Given the description of an element on the screen output the (x, y) to click on. 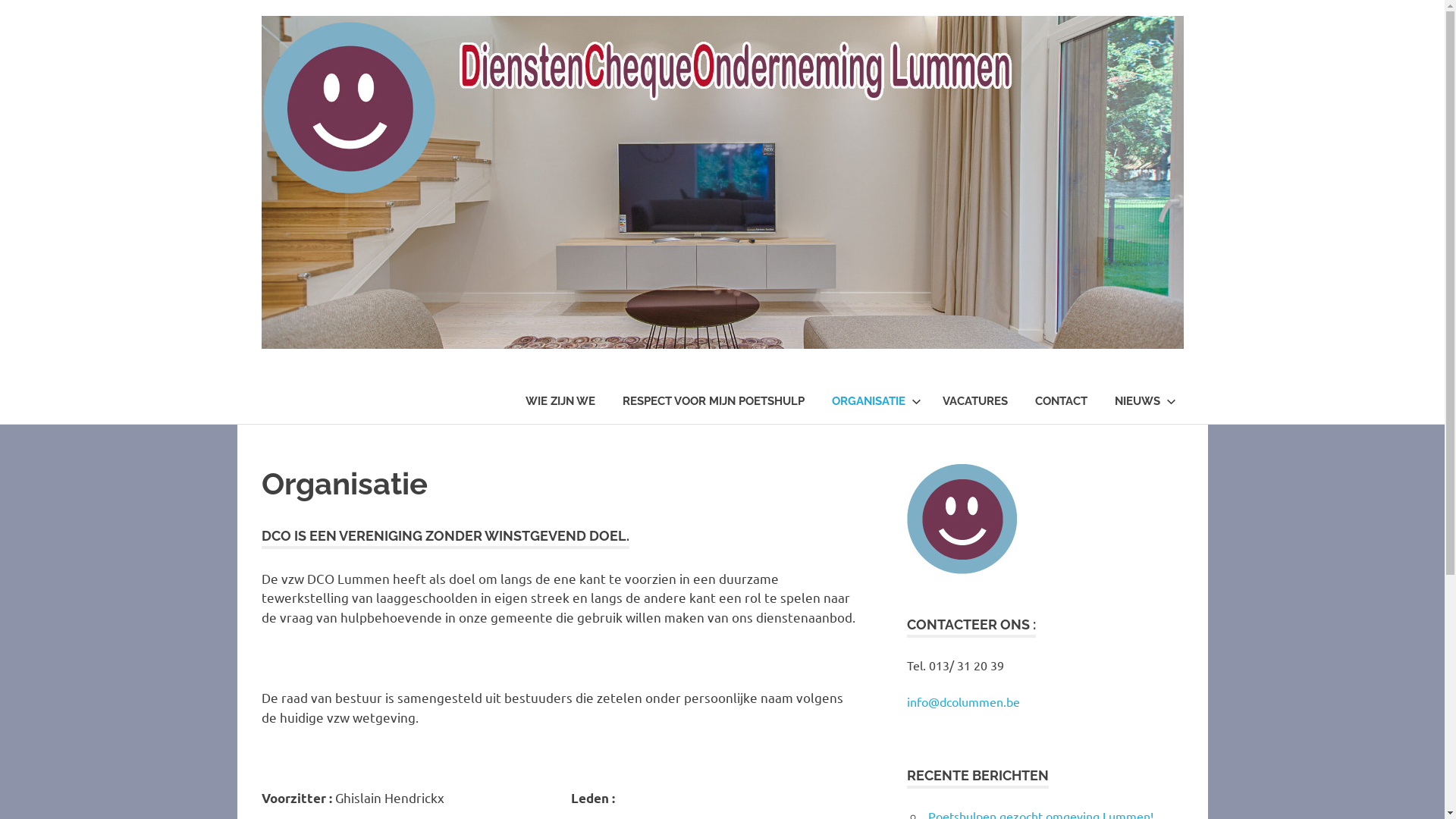
WIE ZIJN WE Element type: text (559, 401)
CONTACT Element type: text (1060, 401)
NIEUWS Element type: text (1142, 401)
ORGANISATIE Element type: text (872, 401)
VACATURES Element type: text (974, 401)
RESPECT VOOR MIJN POETSHULP Element type: text (712, 401)
info@dcolummen.be Element type: text (962, 701)
